Given the description of an element on the screen output the (x, y) to click on. 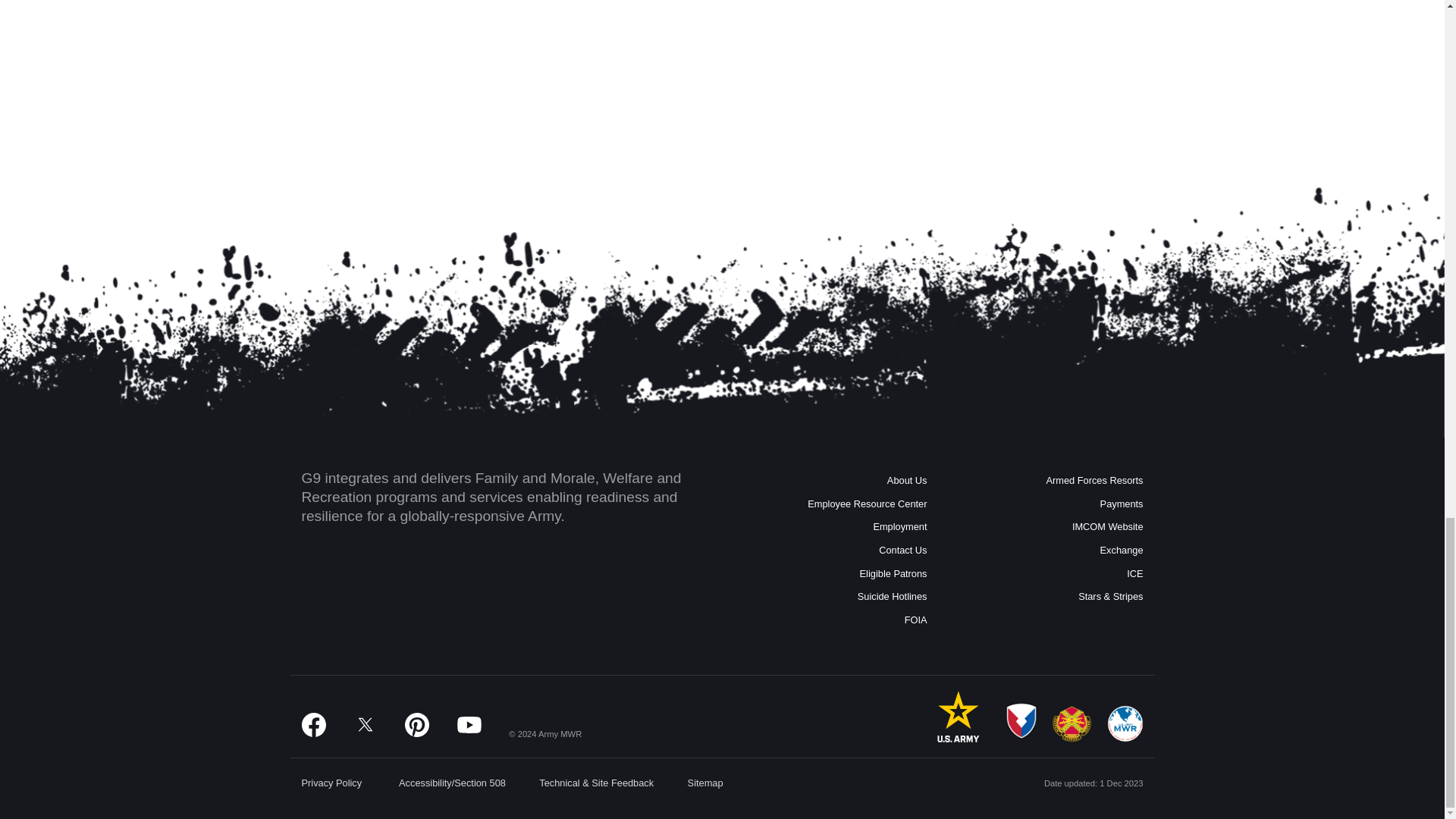
Suicide Hotlines (830, 597)
Armed Forces Resorts (1045, 481)
Eligible Patrons (830, 574)
Employee Resource Center (830, 504)
Contact Us (830, 550)
Employment (830, 526)
Payments (1045, 504)
About Us (830, 481)
Youtube (469, 724)
Exchange (1045, 550)
Facebook (313, 724)
Pinterest (416, 724)
Sitemap (705, 782)
FOIA (830, 620)
ICE (1045, 574)
